Given the description of an element on the screen output the (x, y) to click on. 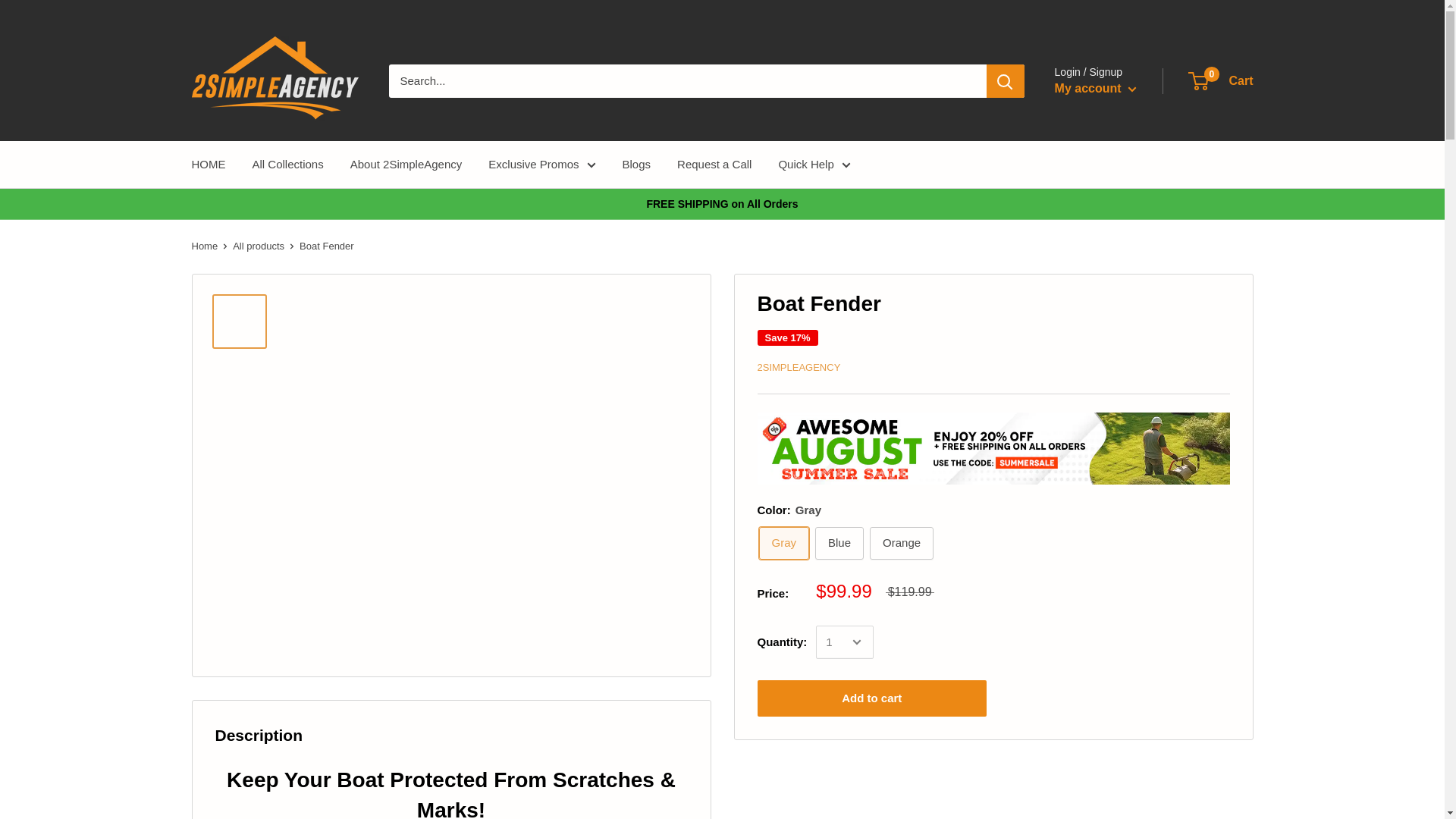
All Collections (1220, 80)
My account (287, 164)
Gray (1095, 87)
Orange (783, 543)
HOME (901, 543)
Blue (207, 164)
